Given the description of an element on the screen output the (x, y) to click on. 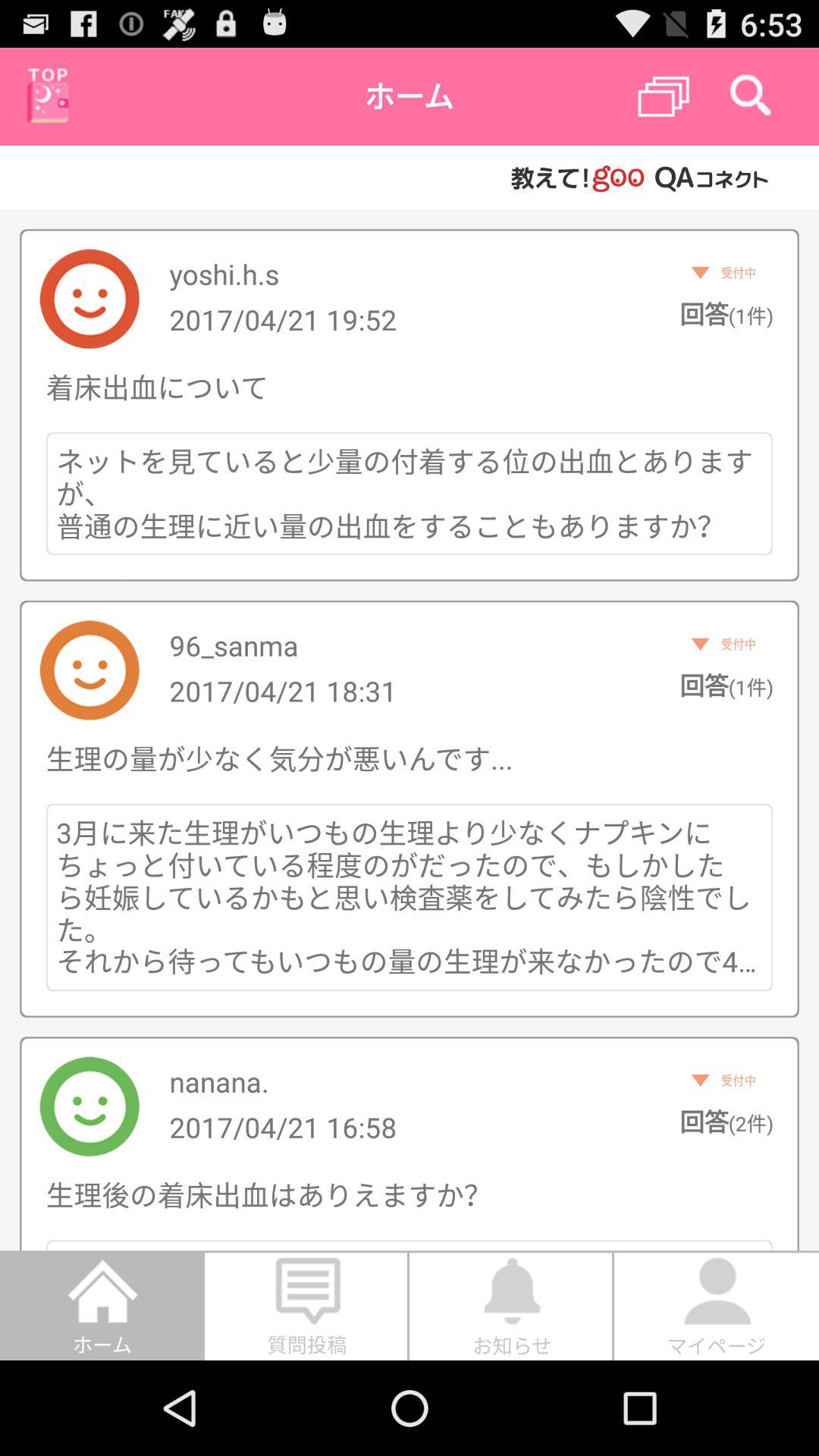
turn off yoshi.h.s (224, 273)
